Given the description of an element on the screen output the (x, y) to click on. 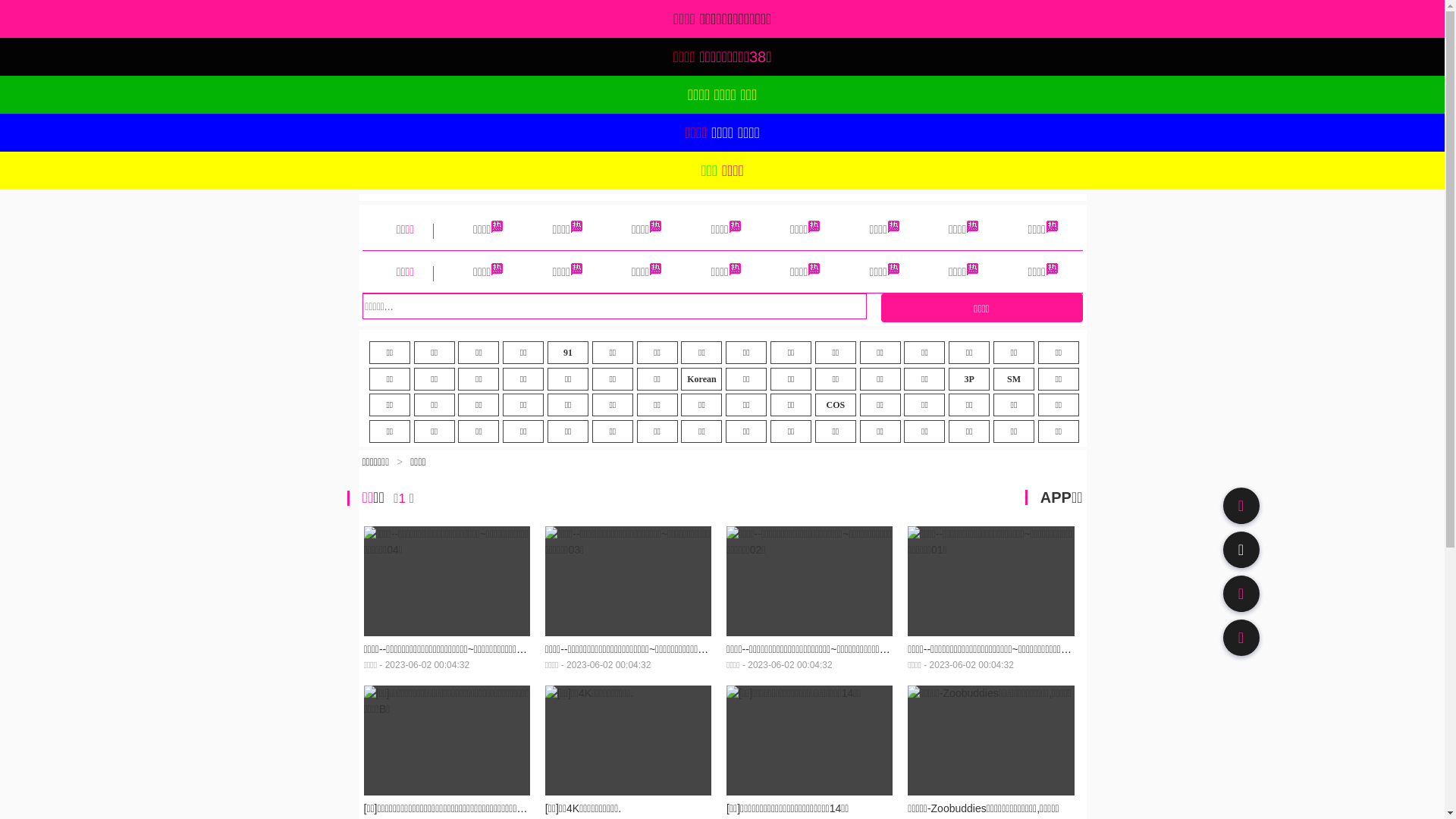
91 Element type: text (567, 352)
COS Element type: text (835, 404)
Korean Element type: text (700, 378)
3P Element type: text (968, 378)
91TV Element type: hover (1240, 593)
SM Element type: text (1013, 378)
